Given the description of an element on the screen output the (x, y) to click on. 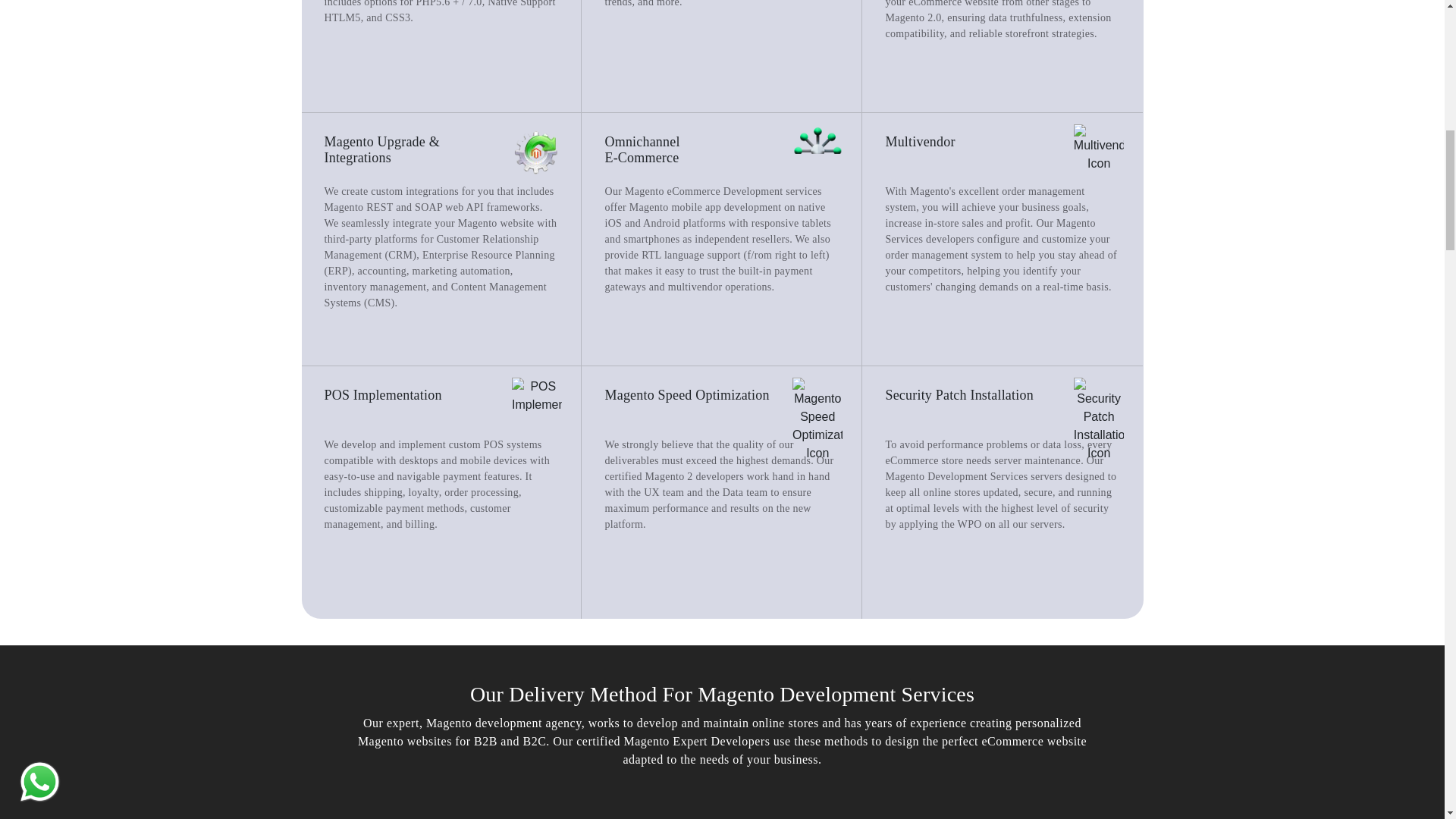
POS Implementation (537, 395)
Multivendor Icon (1099, 148)
Omnichannel E-Commerce Icon (817, 149)
